Given the description of an element on the screen output the (x, y) to click on. 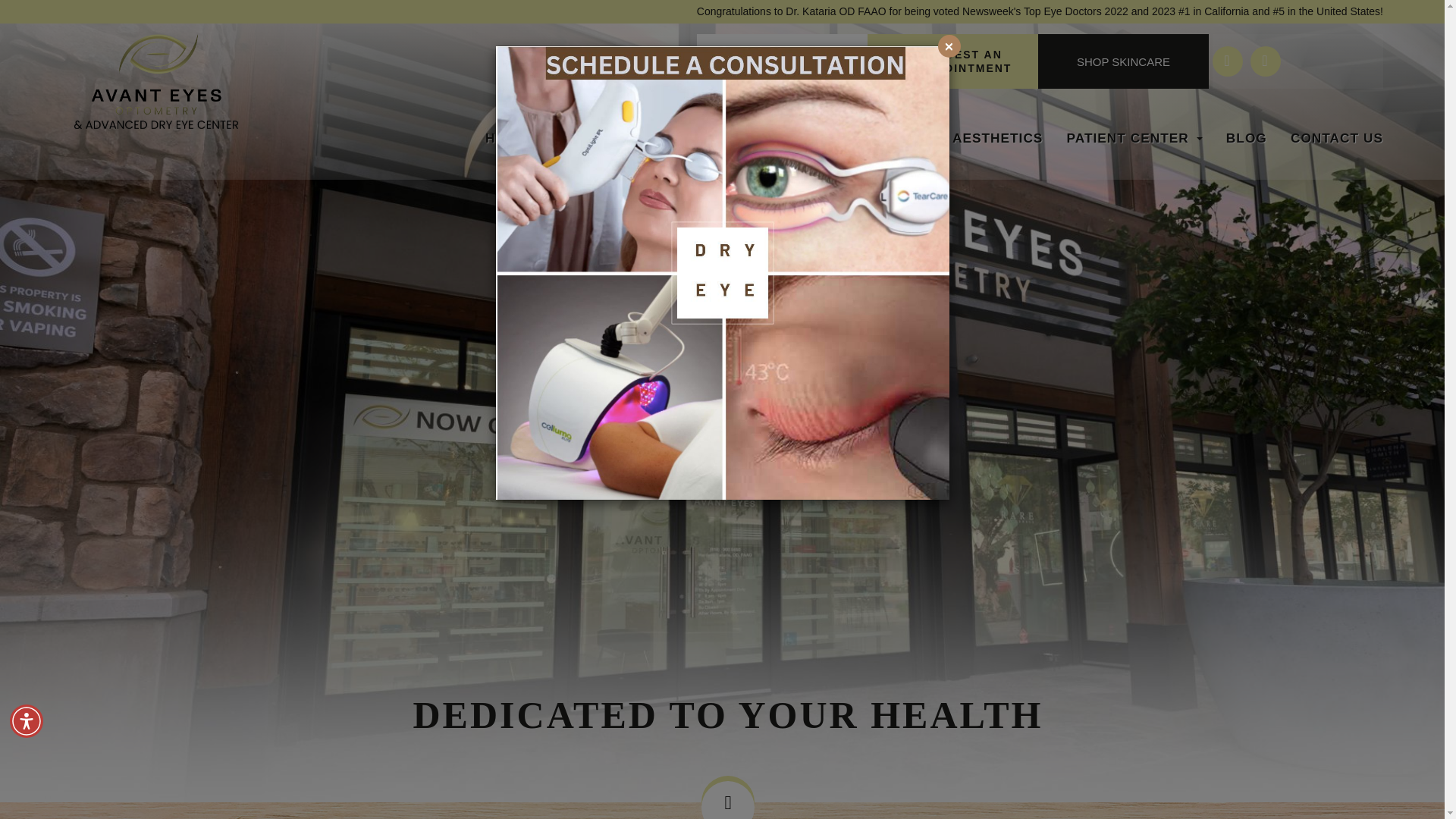
Accessibility Menu (26, 720)
